Given the description of an element on the screen output the (x, y) to click on. 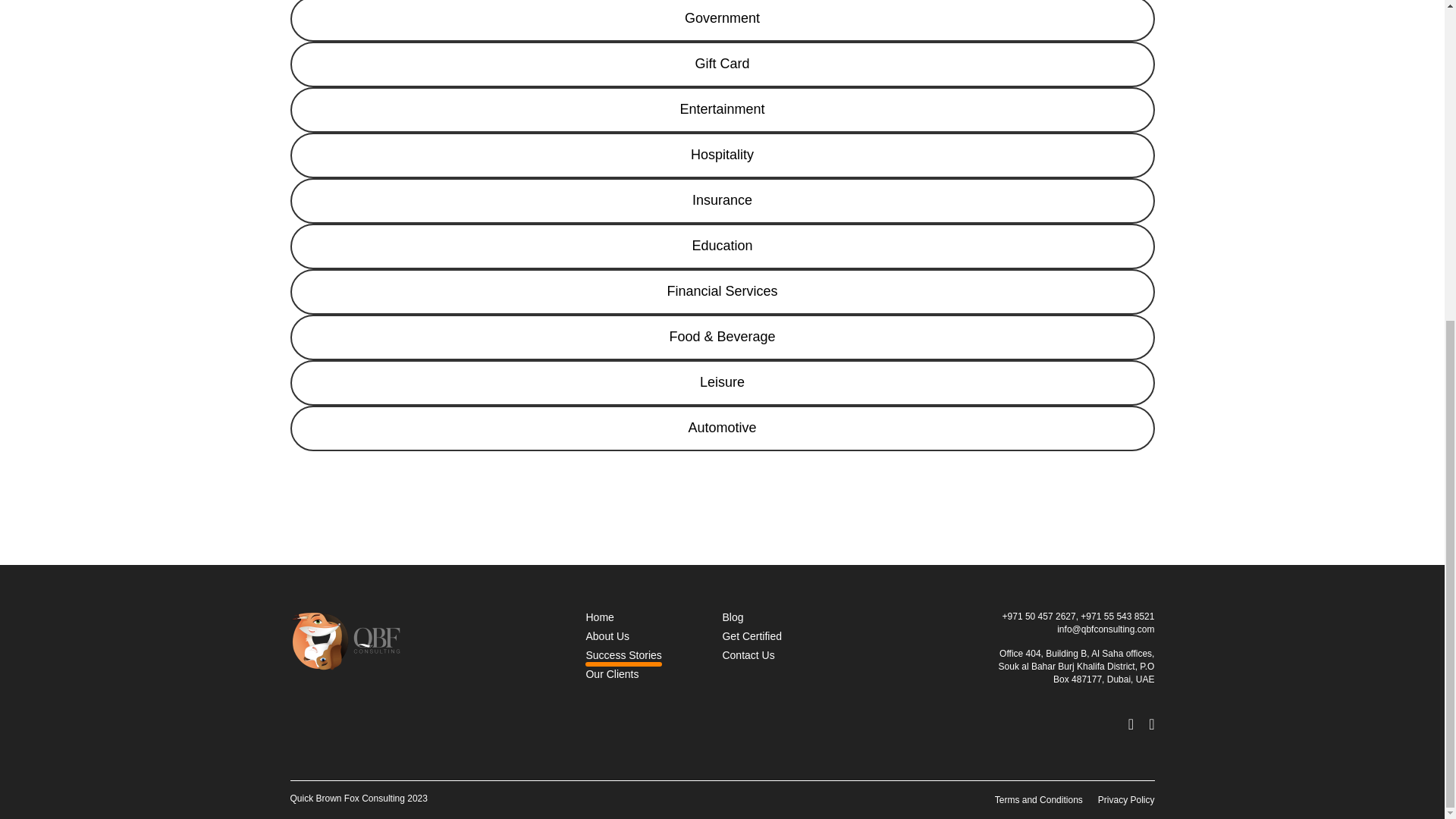
Education (721, 246)
Government (721, 20)
Hospitality (721, 155)
Leisure (721, 382)
Automotive (721, 428)
Financial Services (721, 291)
Gift Card (721, 63)
Entertainment (721, 109)
Insurance (721, 200)
